Given the description of an element on the screen output the (x, y) to click on. 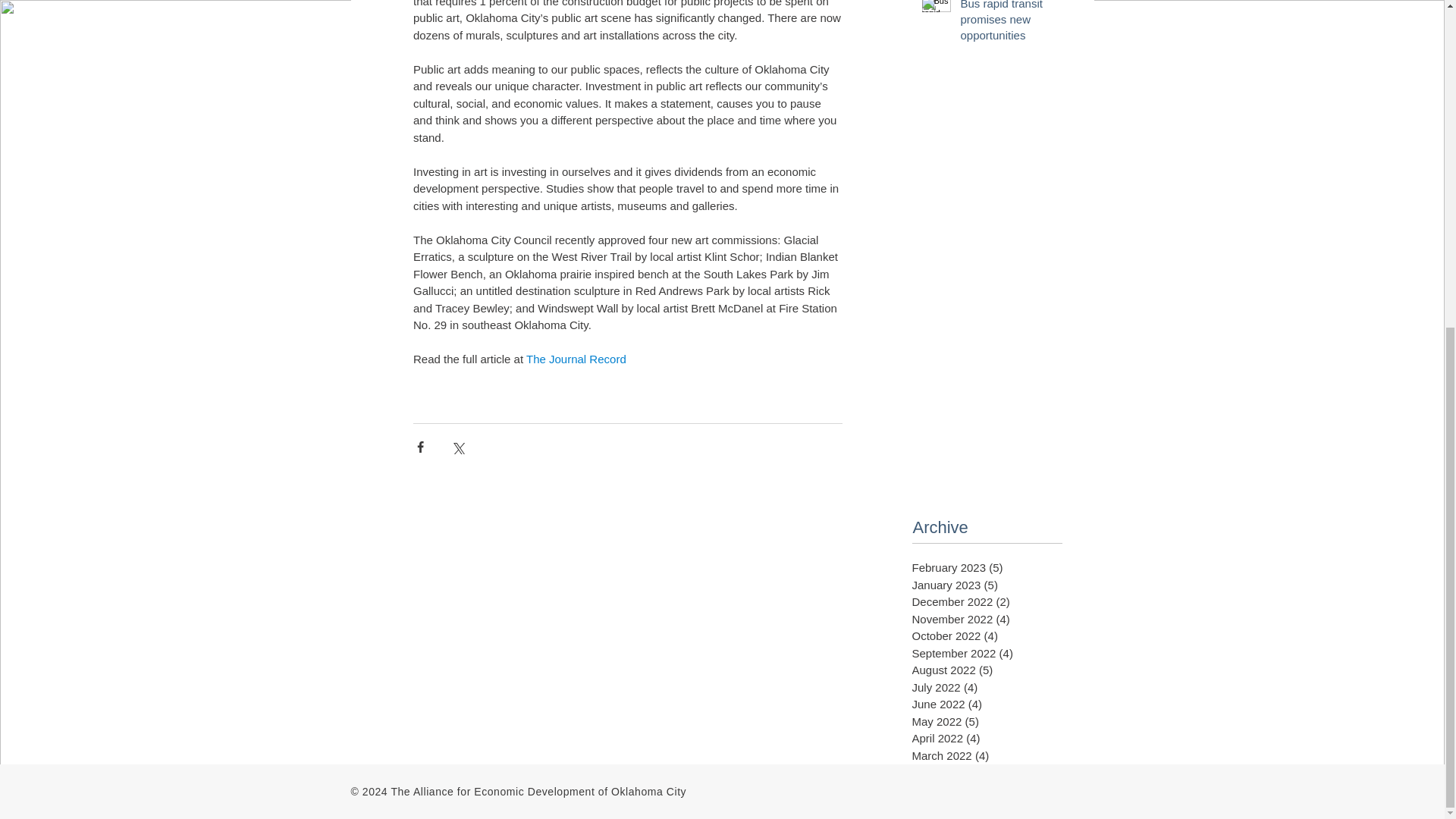
Bus rapid transit promises new opportunities (1013, 24)
The Journal Record (575, 358)
